Given the description of an element on the screen output the (x, y) to click on. 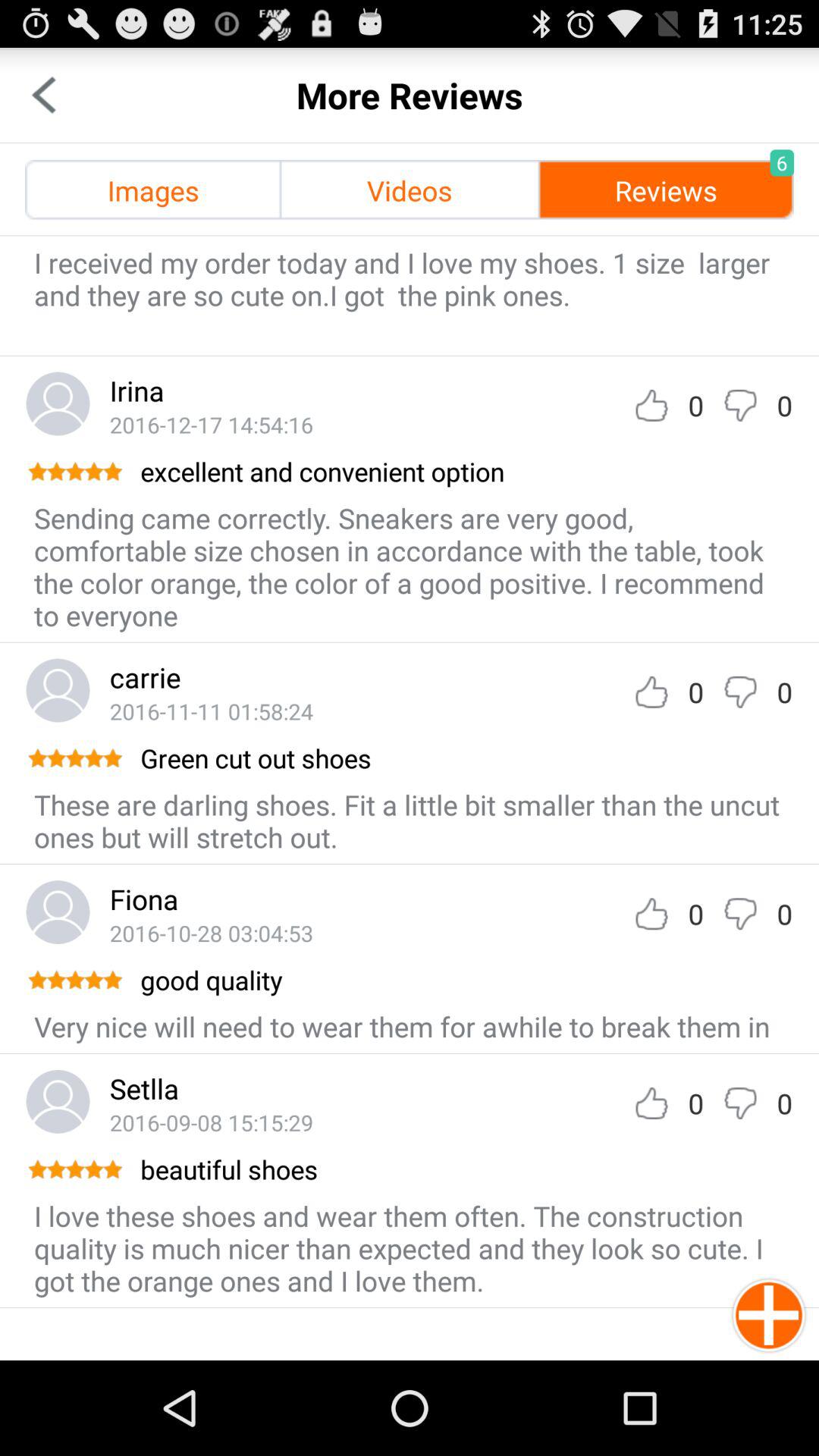
thumbs up (651, 1103)
